Given the description of an element on the screen output the (x, y) to click on. 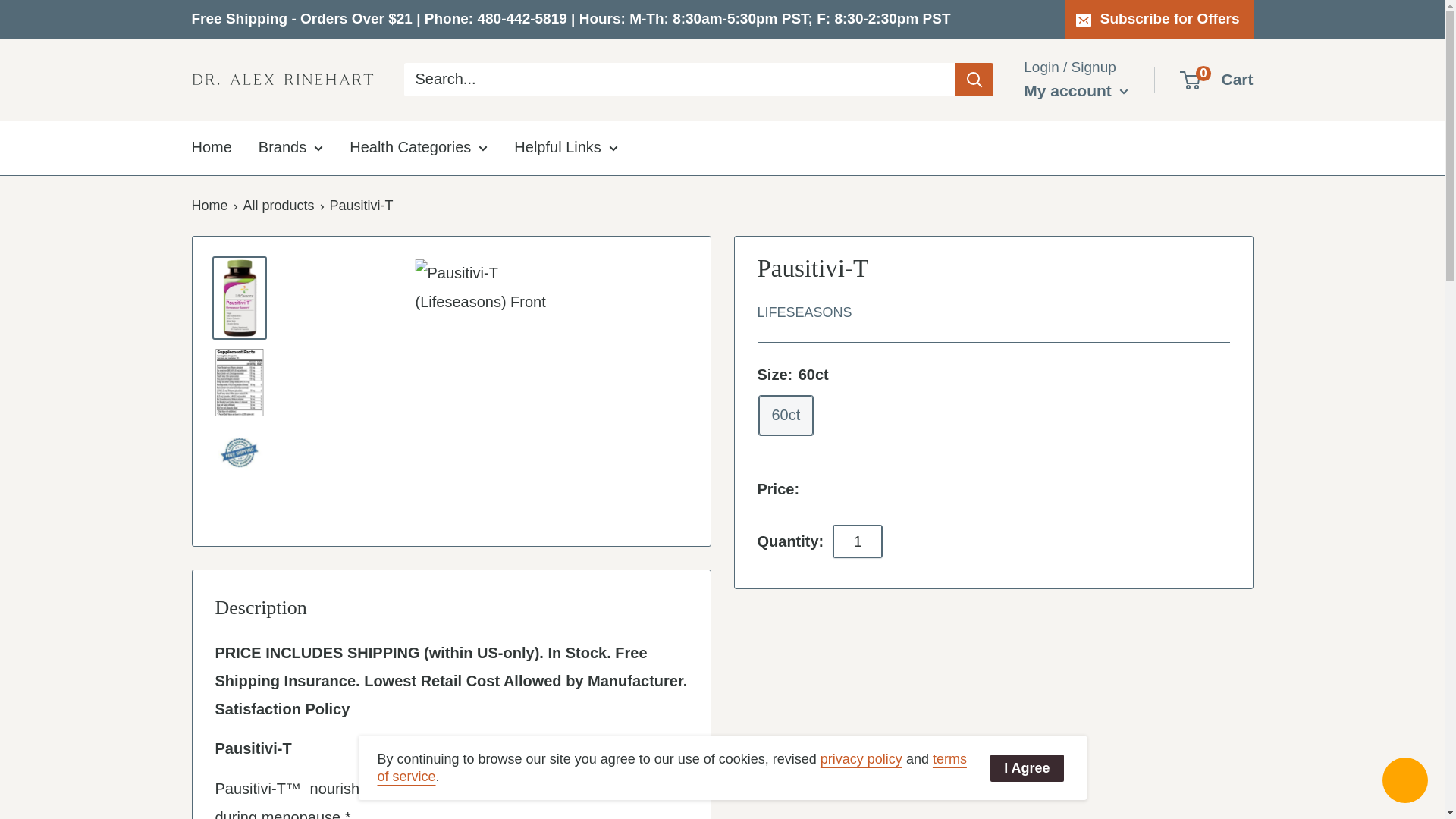
Shopify online store chat (1404, 781)
Terms of Service (671, 767)
1 (857, 541)
60ct (785, 414)
Subscribe for Offers (1158, 18)
